Given the description of an element on the screen output the (x, y) to click on. 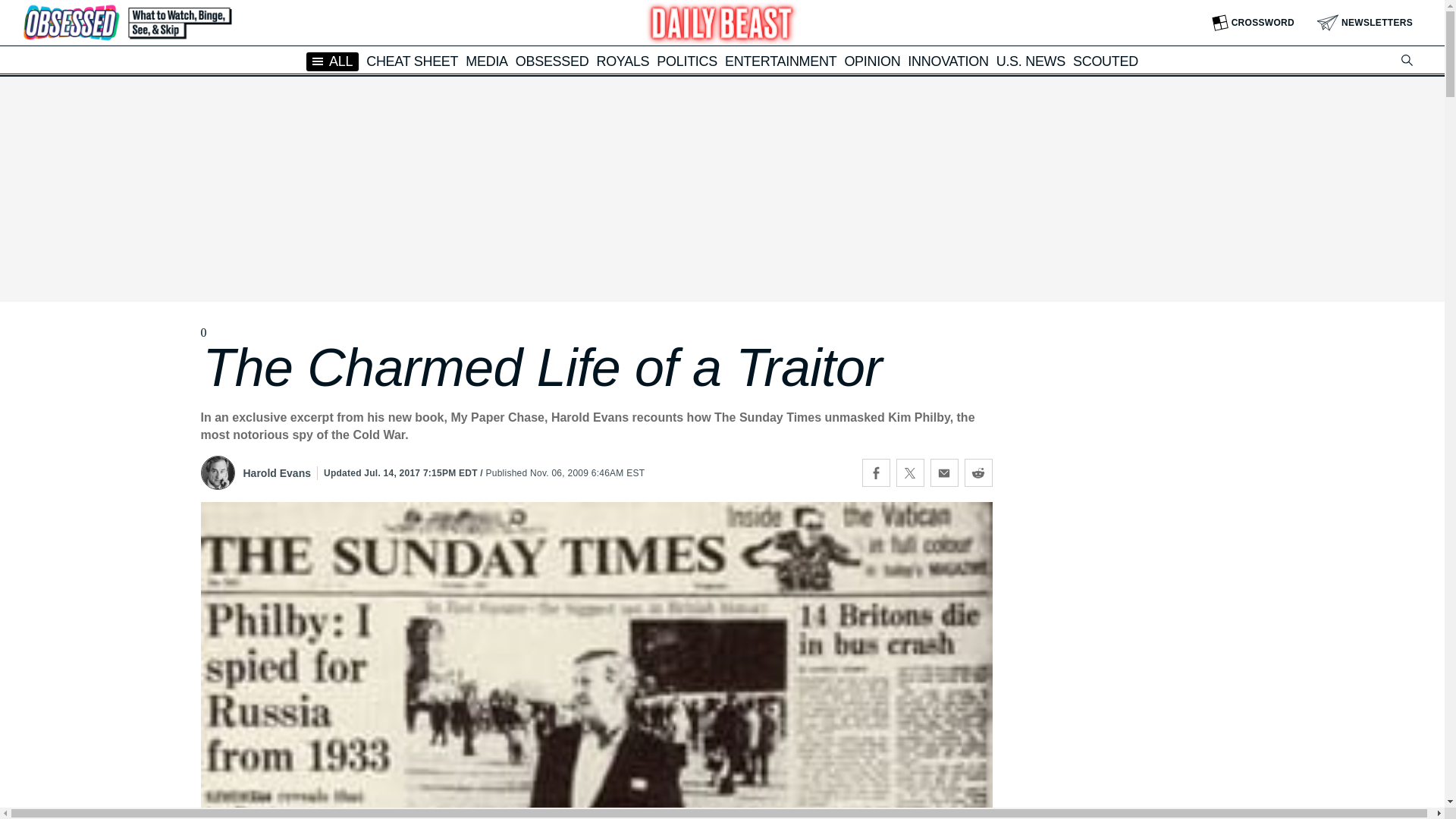
ALL (331, 60)
ROYALS (622, 60)
POLITICS (686, 60)
MEDIA (486, 60)
ENTERTAINMENT (780, 60)
U.S. NEWS (1030, 60)
NEWSLETTERS (1364, 22)
CROSSWORD (1252, 22)
SCOUTED (1105, 60)
CHEAT SHEET (412, 60)
OPINION (871, 60)
OBSESSED (552, 60)
INNOVATION (947, 60)
